Given the description of an element on the screen output the (x, y) to click on. 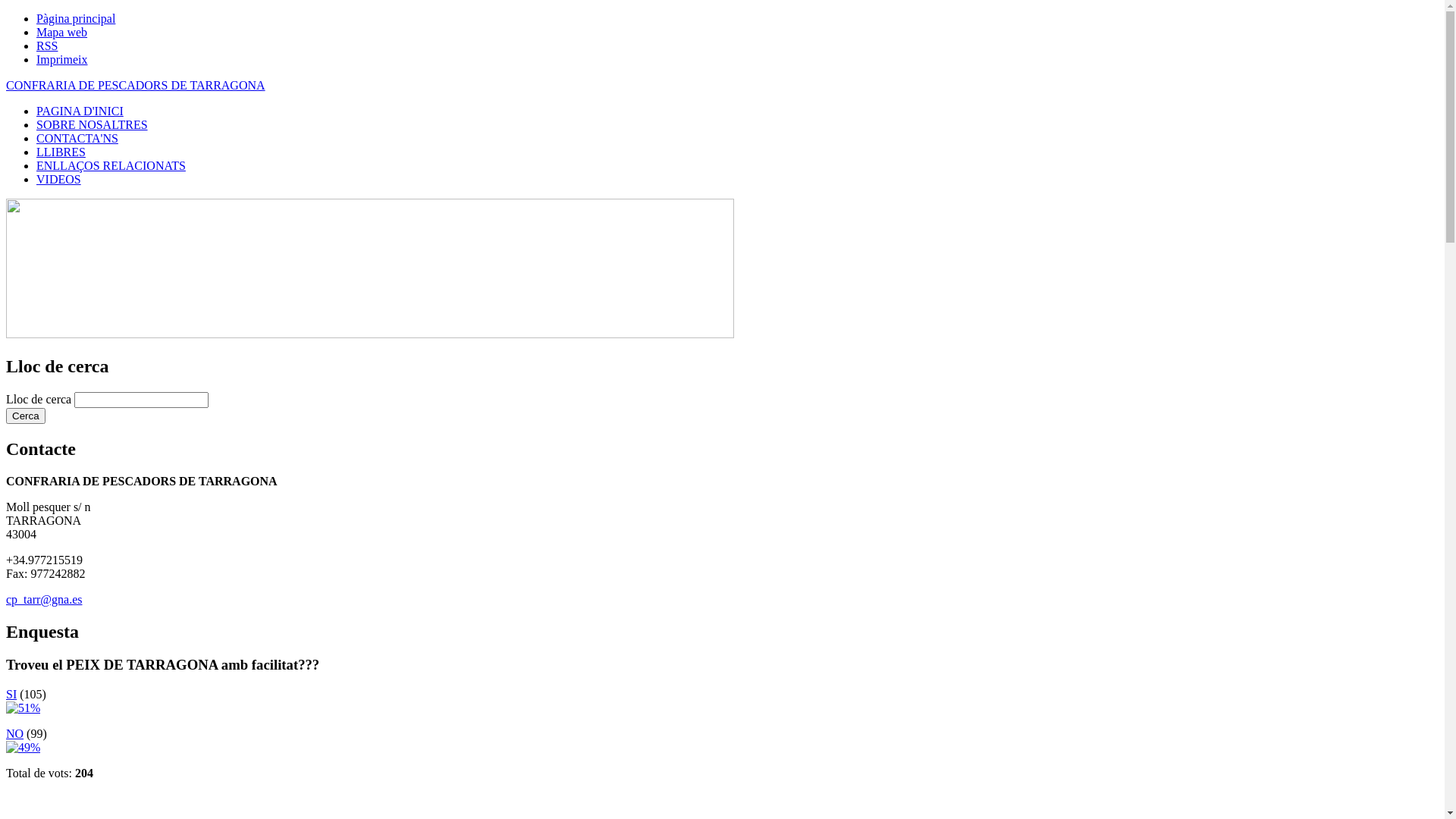
Imprimeix Element type: text (61, 59)
NO Element type: text (14, 733)
PAGINA D'INICI Element type: text (79, 110)
Cerca Element type: text (25, 415)
cp_tarr@gna.es Element type: text (43, 599)
Mapa web Element type: text (61, 31)
SOBRE NOSALTRES Element type: text (91, 124)
SI Element type: text (11, 693)
CONFRARIA DE PESCADORS DE TARRAGONA Element type: text (135, 84)
Vota aquest Element type: hover (23, 746)
Vota aquest Element type: hover (23, 707)
VIDEOS Element type: text (58, 178)
CONTACTA'NS Element type: text (77, 137)
RSS Element type: text (46, 45)
LLIBRES Element type: text (60, 151)
